Given the description of an element on the screen output the (x, y) to click on. 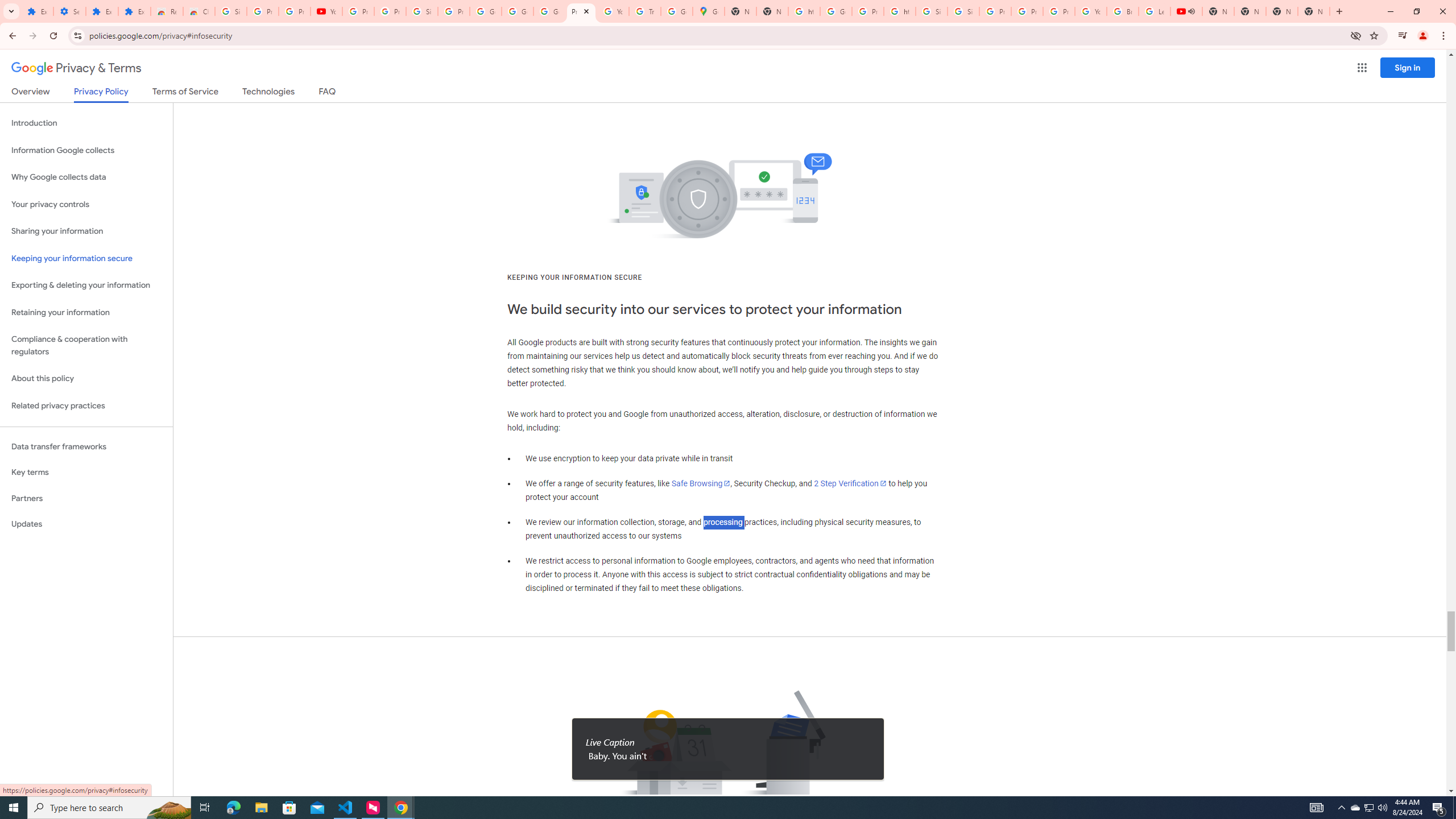
Google Account (517, 11)
Sharing your information (86, 230)
https://scholar.google.com/ (804, 11)
Sign in - Google Accounts (963, 11)
Related privacy practices (86, 405)
Retaining your information (86, 312)
Google Account (485, 11)
